Given the description of an element on the screen output the (x, y) to click on. 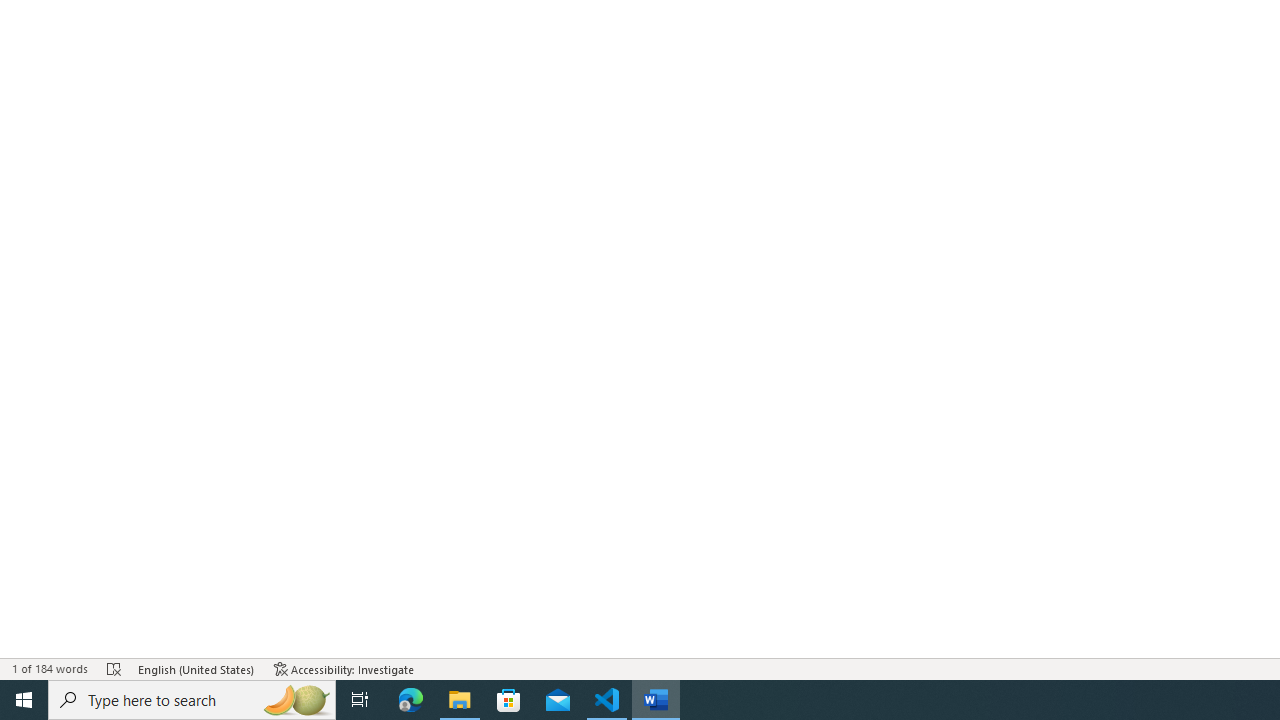
Accessibility Checker Accessibility: Investigate (344, 668)
Language English (United States) (196, 668)
Spelling and Grammar Check Errors (114, 668)
Word Count 1 of 184 words (49, 668)
